Given the description of an element on the screen output the (x, y) to click on. 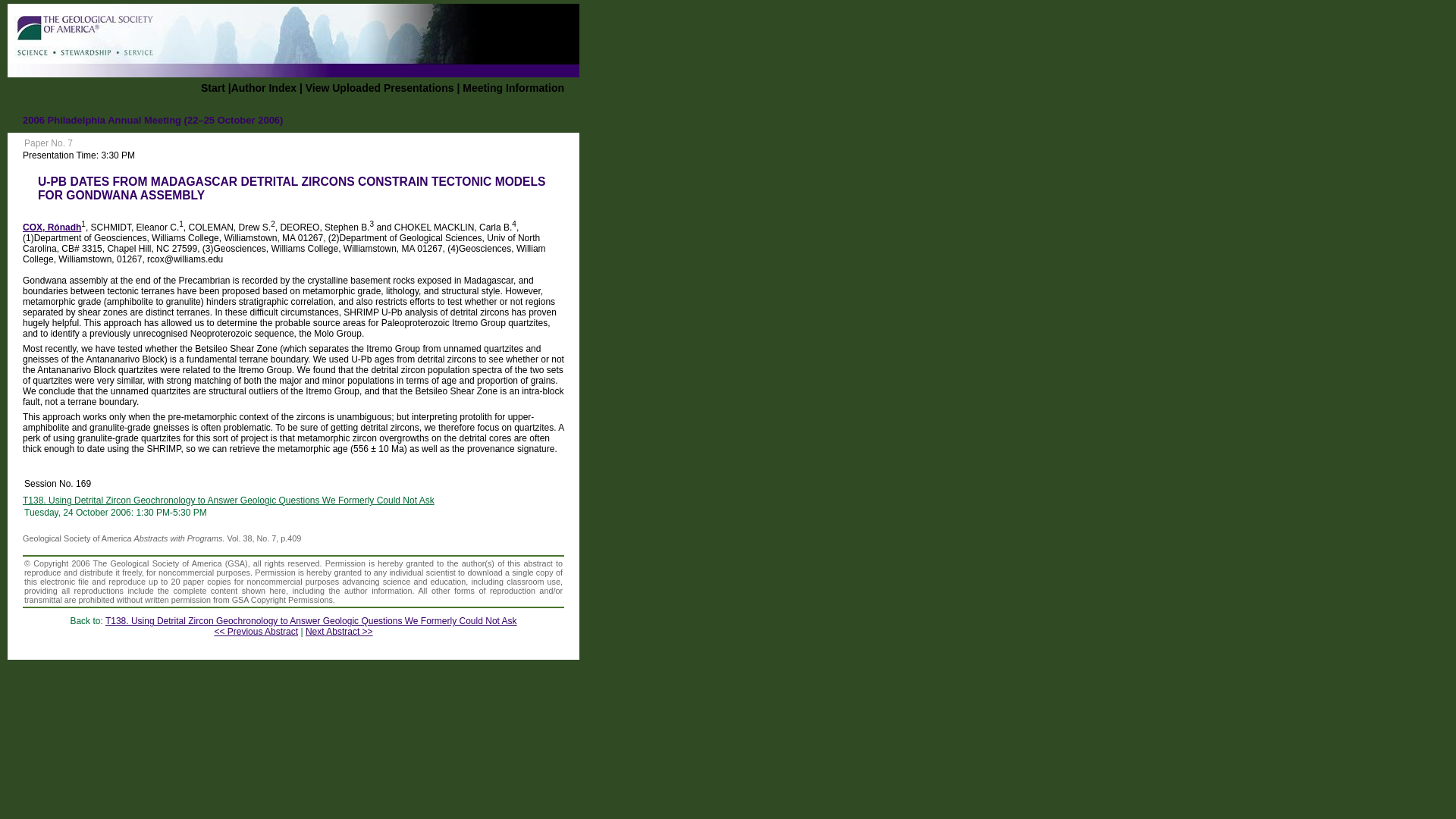
Start (212, 87)
View Uploaded Presentations (379, 87)
Author Index (264, 87)
Meeting Information (513, 87)
